Given the description of an element on the screen output the (x, y) to click on. 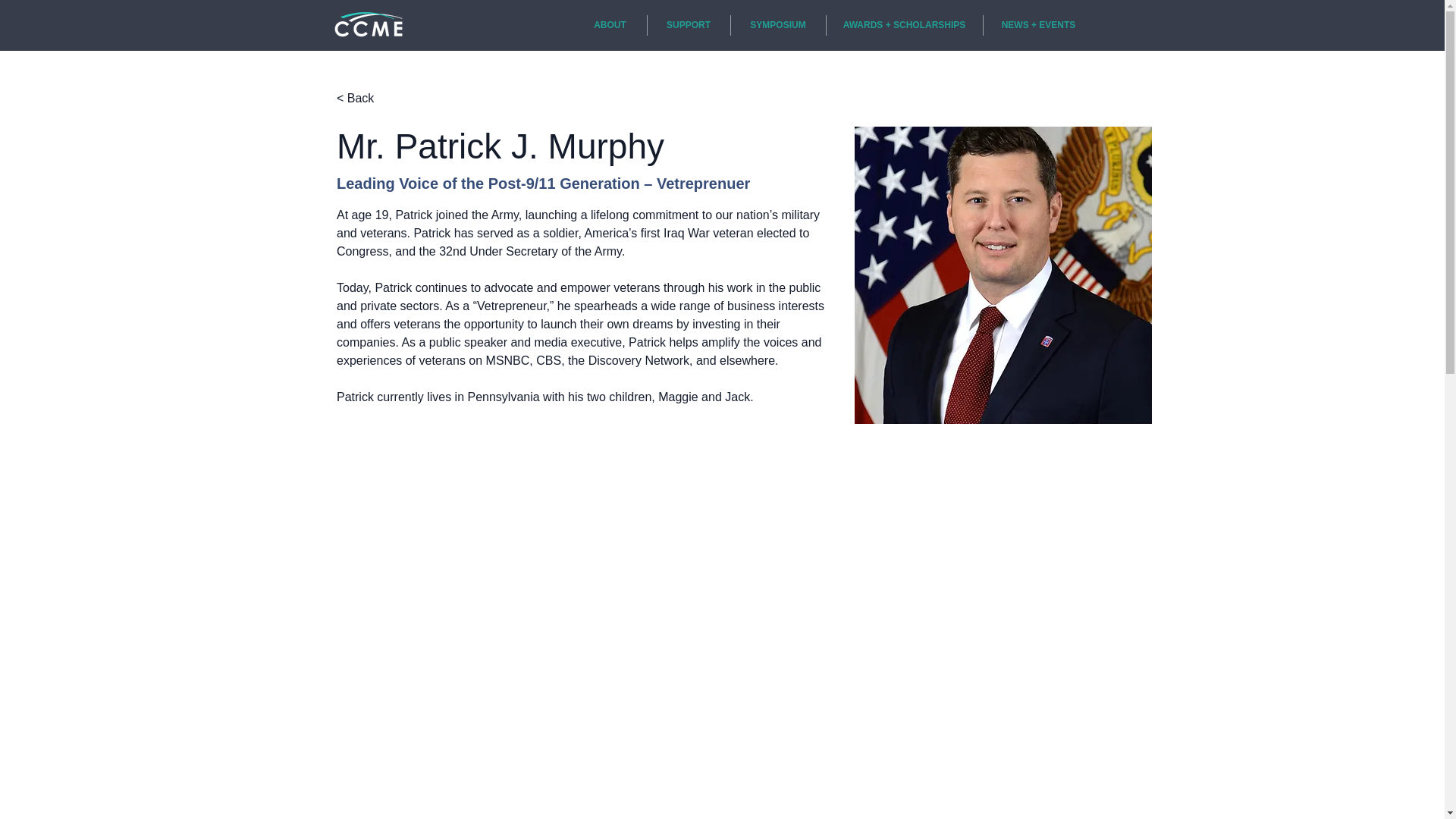
SYMPOSIUM (777, 25)
ABOUT (609, 25)
SUPPORT (688, 25)
patrick-murphy.jfif (1002, 275)
